Given the description of an element on the screen output the (x, y) to click on. 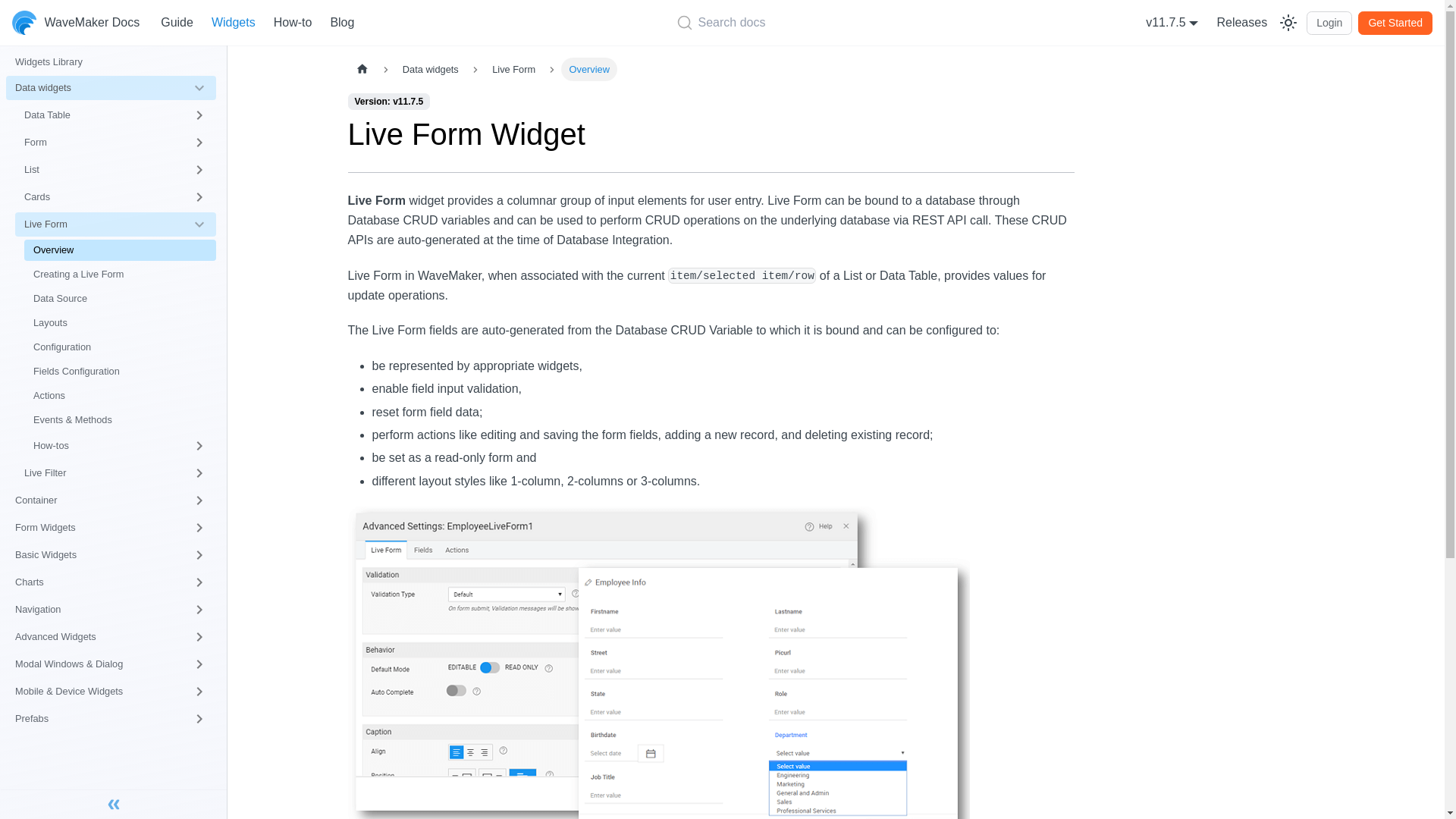
Form Widgets (110, 527)
Data Table (114, 115)
Data Source (119, 298)
Widgets (233, 22)
Fields Configuration (119, 371)
How-to (292, 22)
WaveMaker Docs (75, 22)
Overview (119, 250)
Live Filter (114, 473)
Layouts (119, 322)
How-tos (119, 445)
Configuration (119, 346)
Live Form (114, 224)
Data widgets (110, 87)
Login (1329, 22)
